Given the description of an element on the screen output the (x, y) to click on. 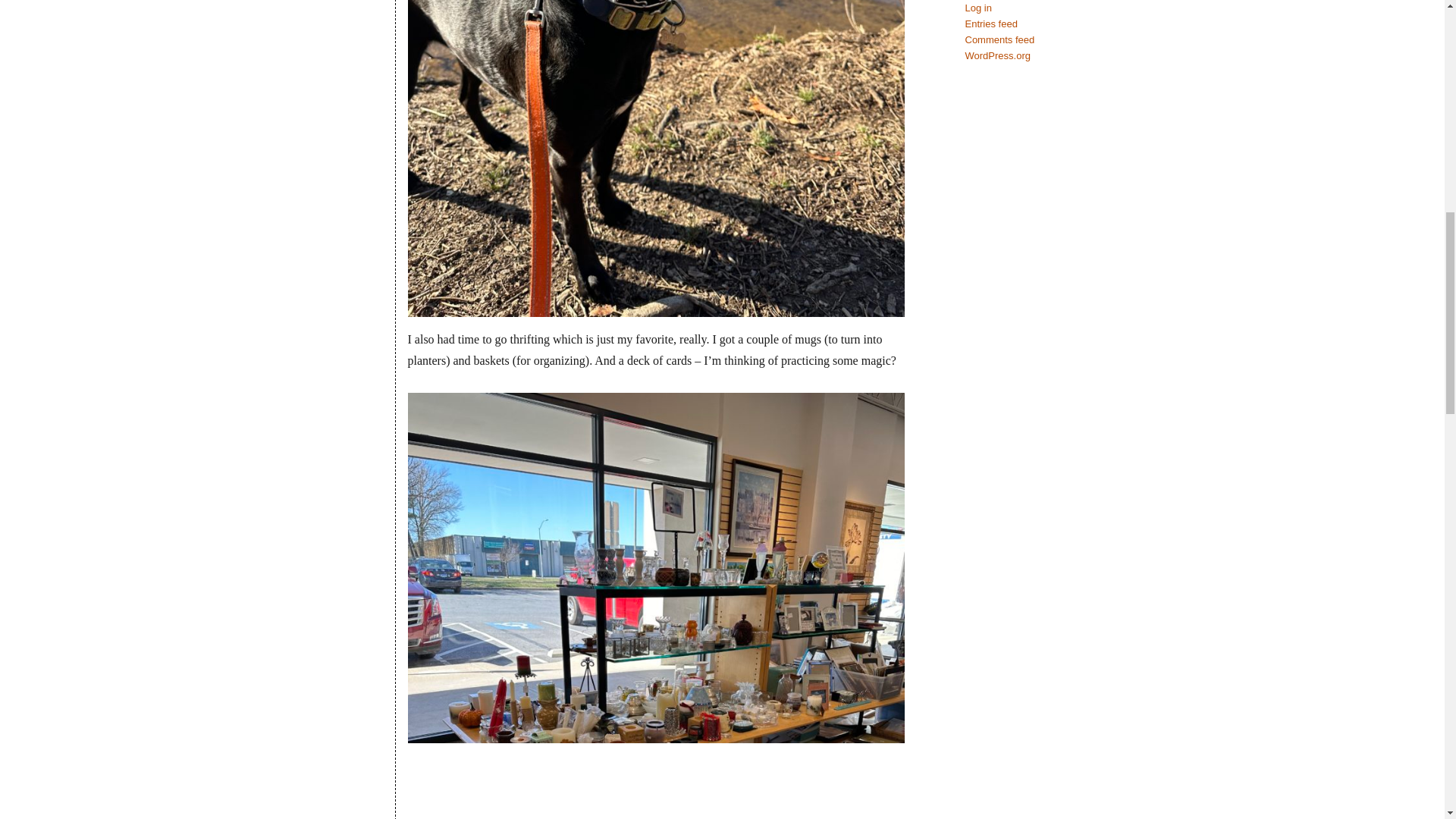
Entries feed (989, 23)
Log in (977, 7)
Comments feed (998, 39)
WordPress.org (996, 55)
